Given the description of an element on the screen output the (x, y) to click on. 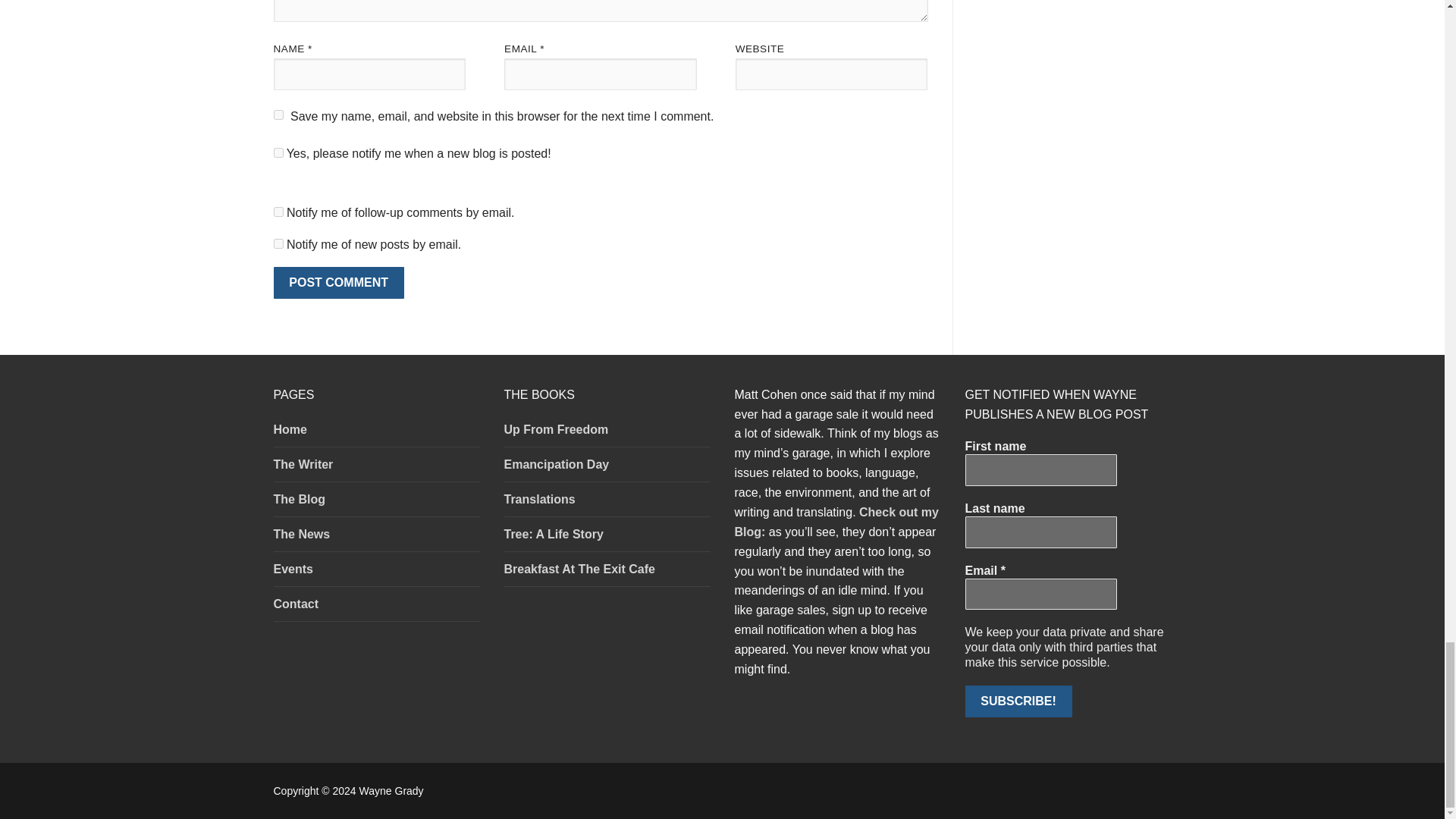
Email (1039, 594)
1 (277, 153)
subscribe (277, 243)
subscribe (277, 212)
yes (277, 114)
Last name (1039, 531)
First name (1039, 470)
Subscribe! (1017, 701)
Post Comment (338, 282)
